Given the description of an element on the screen output the (x, y) to click on. 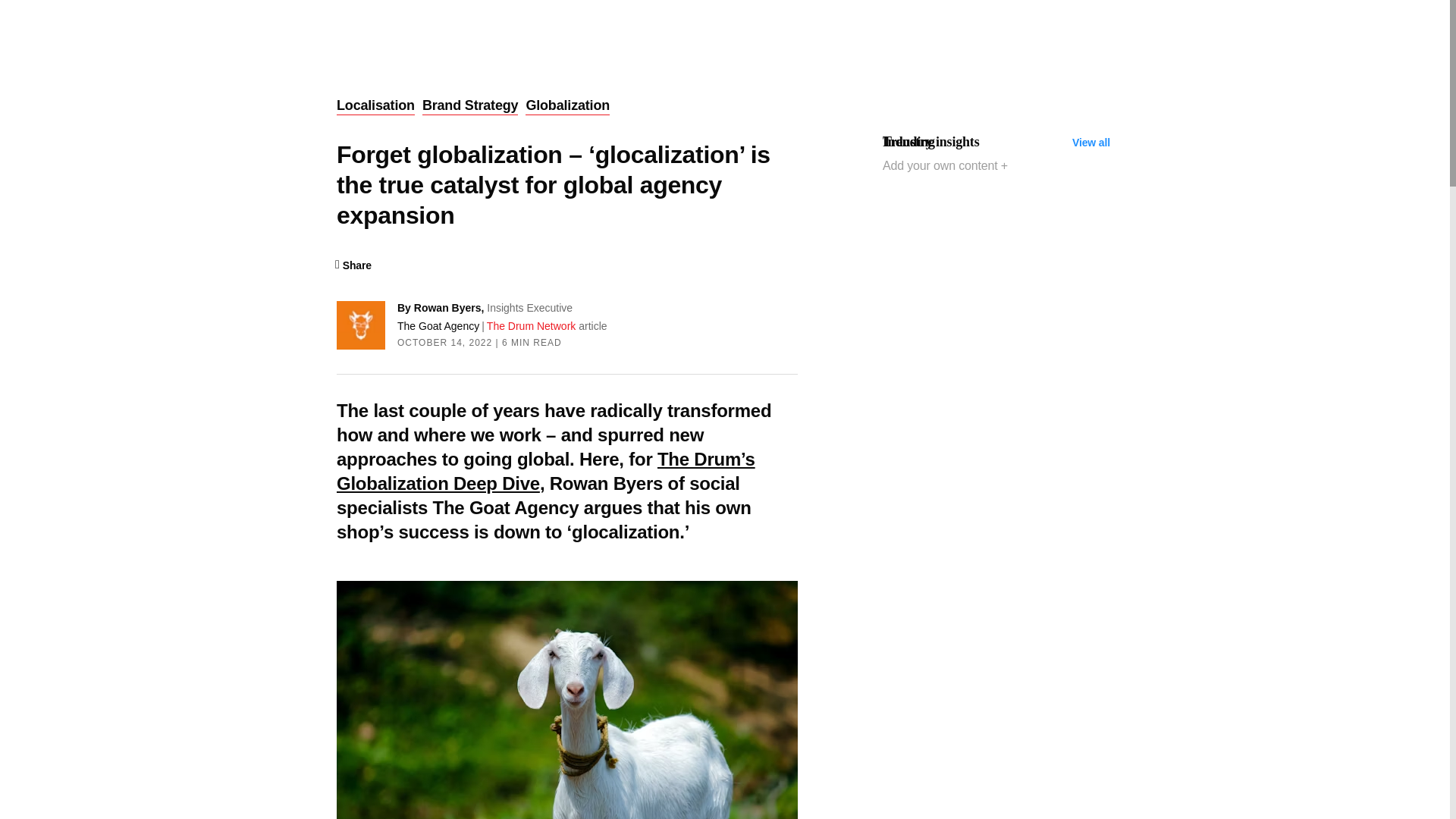
Localisation (375, 106)
Share (353, 264)
Rowan Byers, (449, 307)
A goat (566, 699)
The Goat Agency (438, 326)
Globalization (567, 106)
The Drum Network (532, 326)
View all (1090, 142)
Brand Strategy (470, 106)
